Given the description of an element on the screen output the (x, y) to click on. 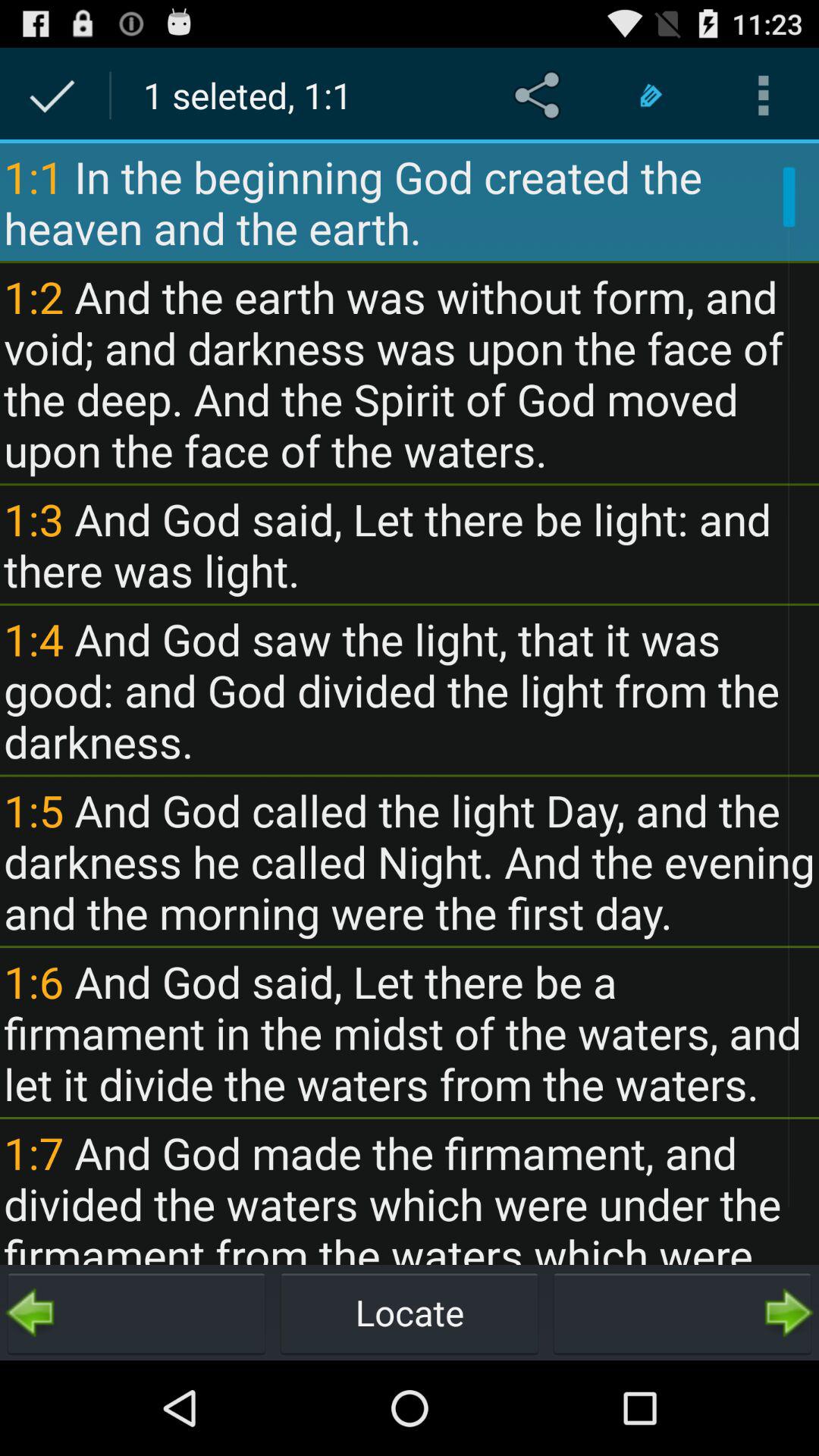
go to next (682, 1312)
